Given the description of an element on the screen output the (x, y) to click on. 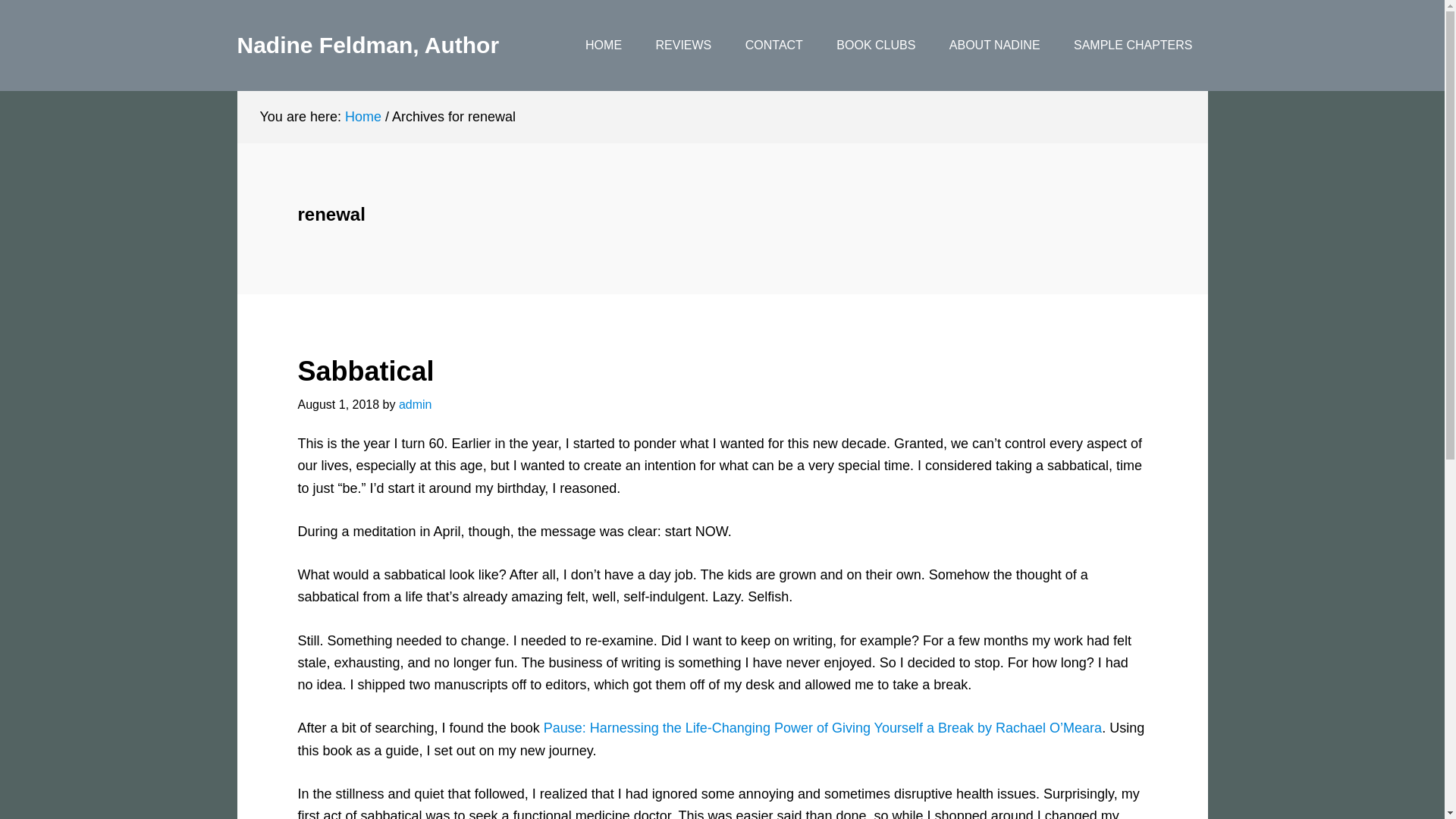
ABOUT NADINE (994, 45)
Nadine Feldman, Author (367, 44)
BOOK CLUBS (875, 45)
Home (363, 116)
SAMPLE CHAPTERS (1132, 45)
admin (415, 404)
Sabbatical (365, 370)
REVIEWS (683, 45)
CONTACT (774, 45)
